Given the description of an element on the screen output the (x, y) to click on. 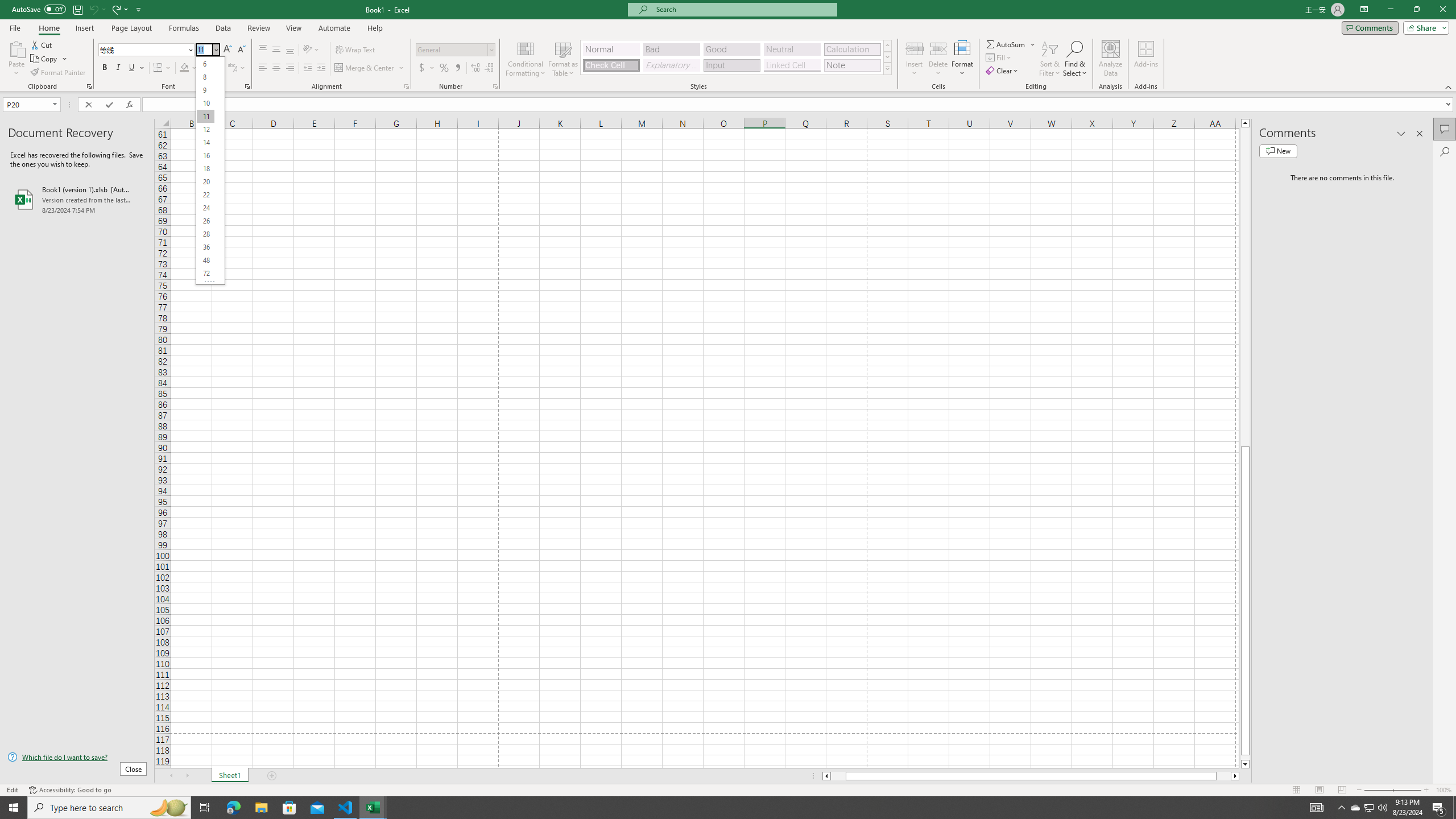
18 (205, 168)
Decrease Indent (307, 67)
Home (48, 28)
48 (205, 259)
Comments (1444, 128)
Top Align (262, 49)
Wrap Text (355, 49)
Fill Color RGB(255, 255, 0) (183, 67)
Show Phonetic Field (236, 67)
Insert Cells (914, 48)
Format Cell Alignment (405, 85)
Increase Decimal (474, 67)
Neutral (791, 49)
Insert (83, 28)
Search (1444, 151)
